Given the description of an element on the screen output the (x, y) to click on. 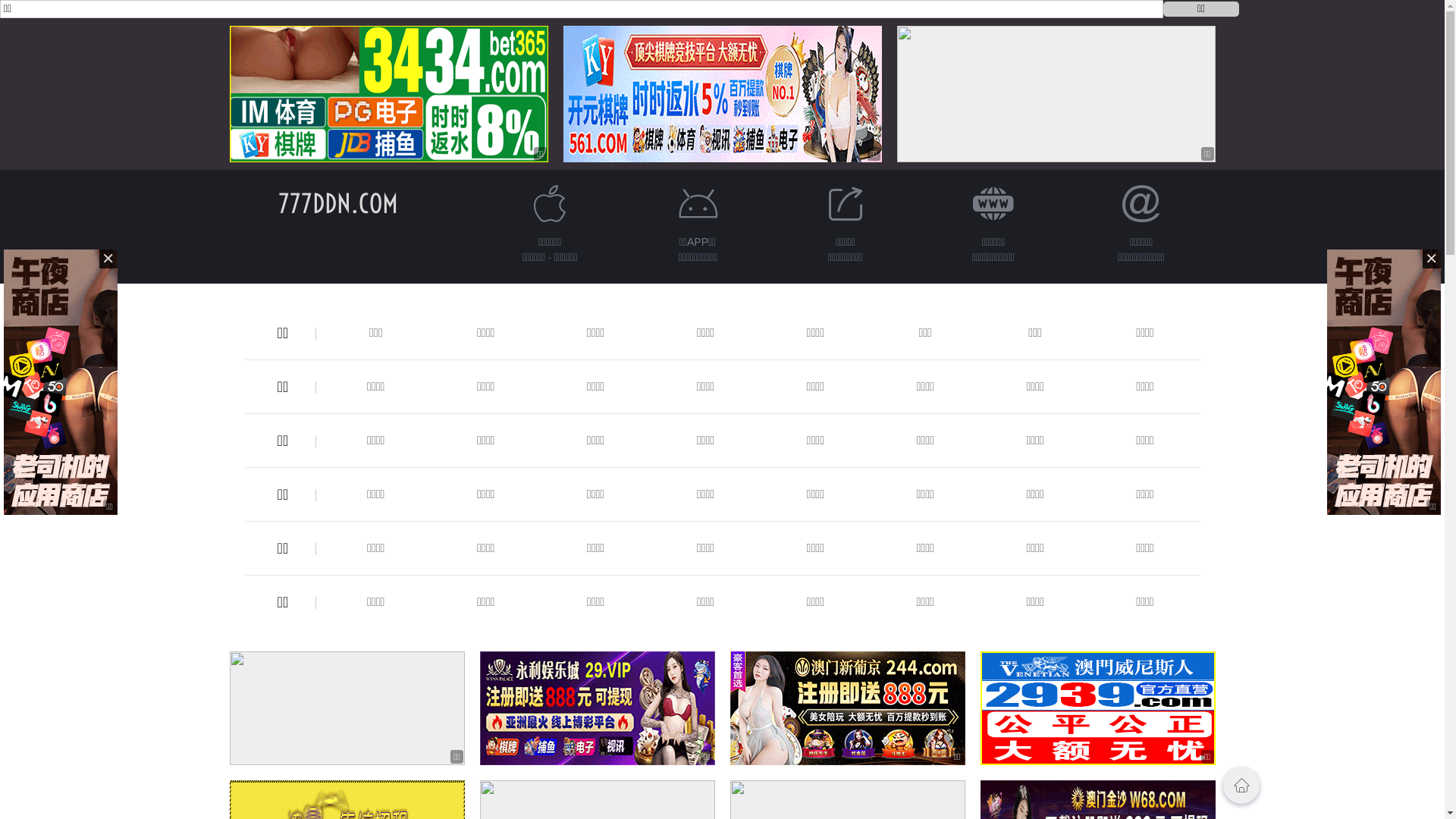
777DDN.COM Element type: text (337, 203)
